Given the description of an element on the screen output the (x, y) to click on. 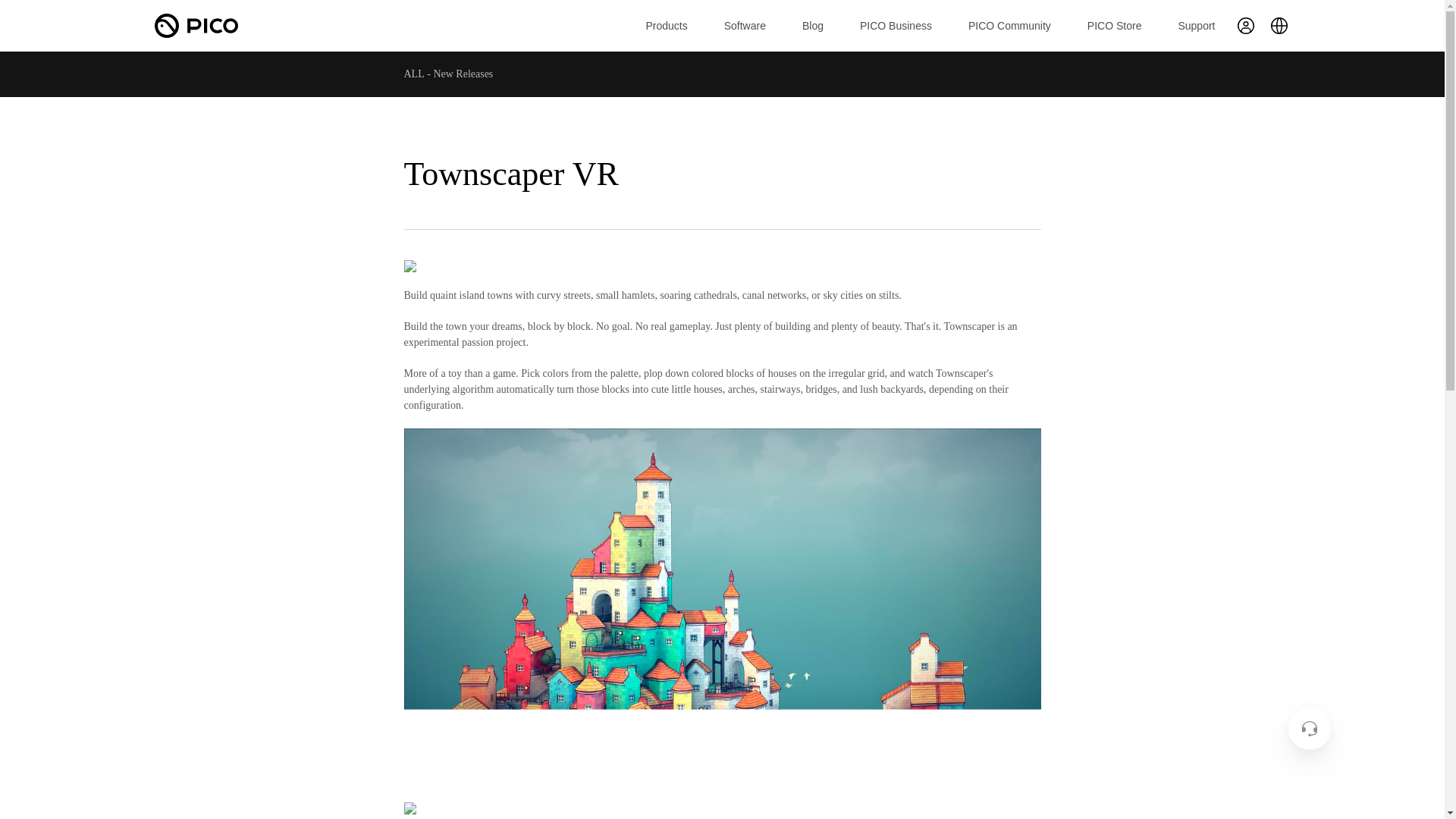
PICO Community (1009, 25)
PICO Store (1114, 25)
Blog (813, 25)
PICO Business (895, 25)
